Given the description of an element on the screen output the (x, y) to click on. 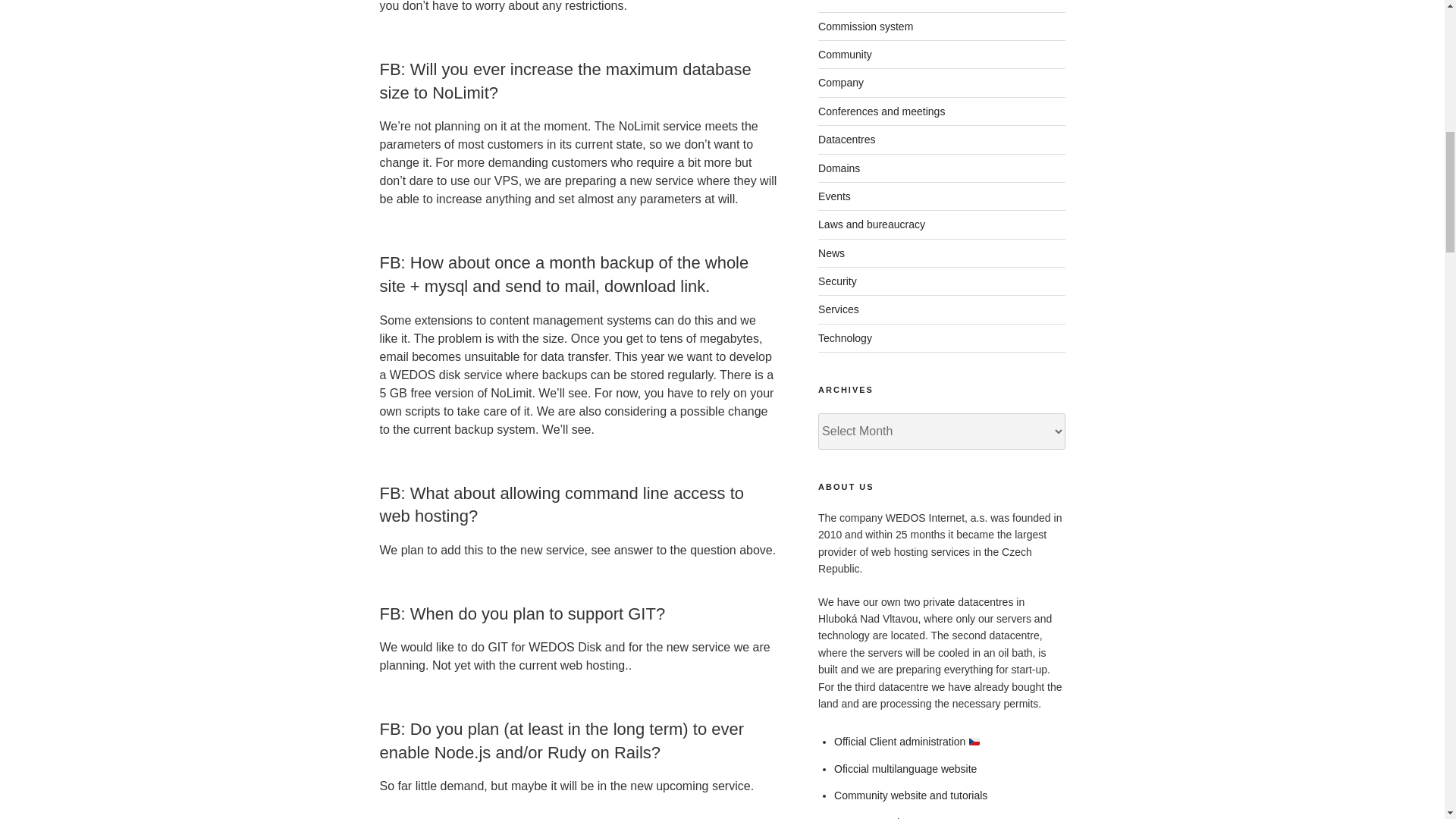
News (831, 253)
Datacentres (846, 139)
Company (840, 82)
Conferences and meetings (881, 111)
Laws and bureaucracy (871, 224)
Oficcial multilanguage website (905, 768)
Community website and tutorials (910, 795)
WEDOS OnLine (872, 817)
Security (837, 281)
Services (838, 309)
Commission system (865, 26)
Community (845, 54)
Official Client administration (899, 741)
Domains (839, 168)
Events (834, 196)
